Given the description of an element on the screen output the (x, y) to click on. 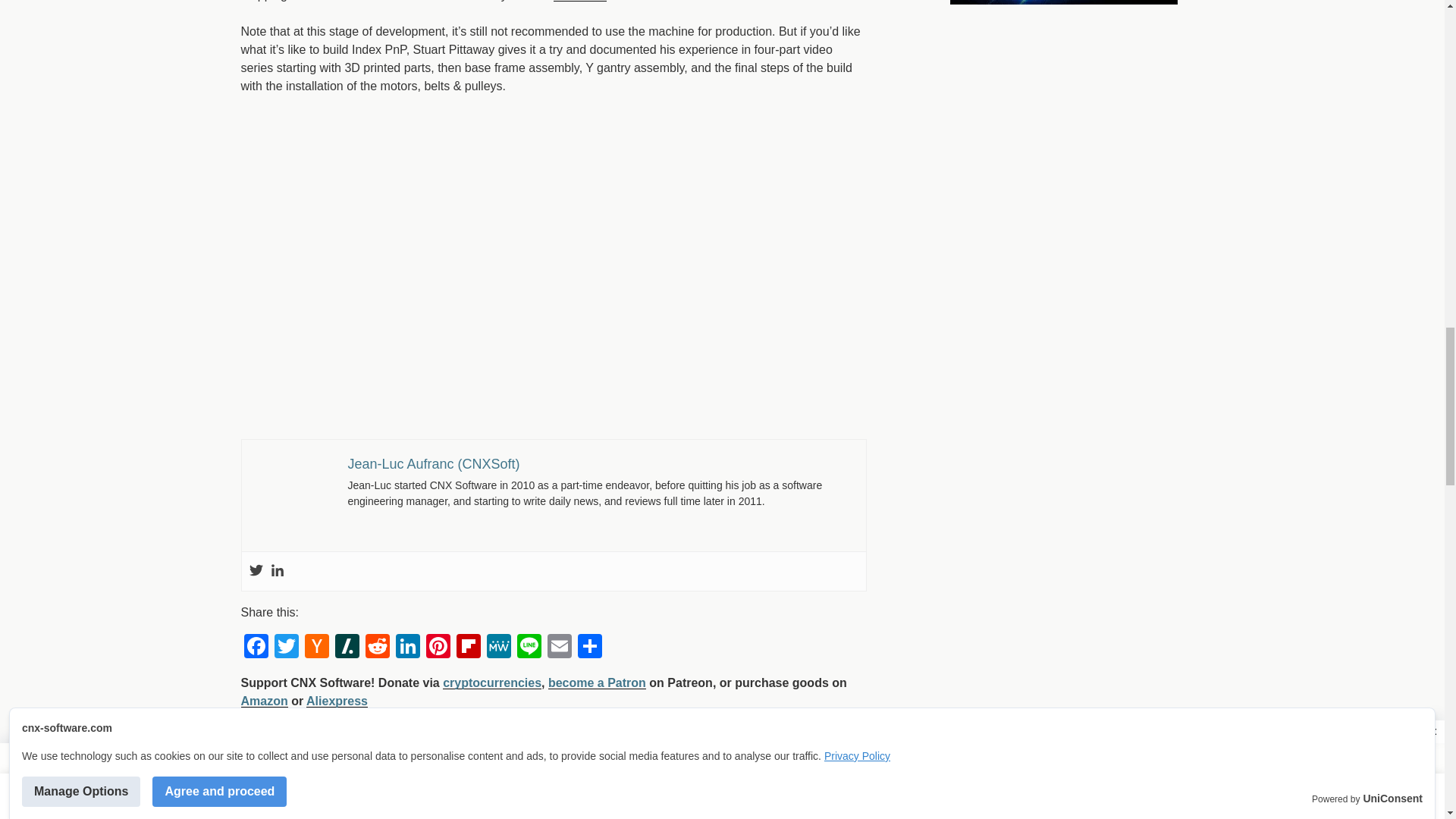
Reddit (377, 647)
Pinterest (437, 647)
Hacker News (316, 647)
Facebook (255, 647)
Slashdot (346, 647)
Twitter (285, 647)
LinkedIn (408, 647)
